Given the description of an element on the screen output the (x, y) to click on. 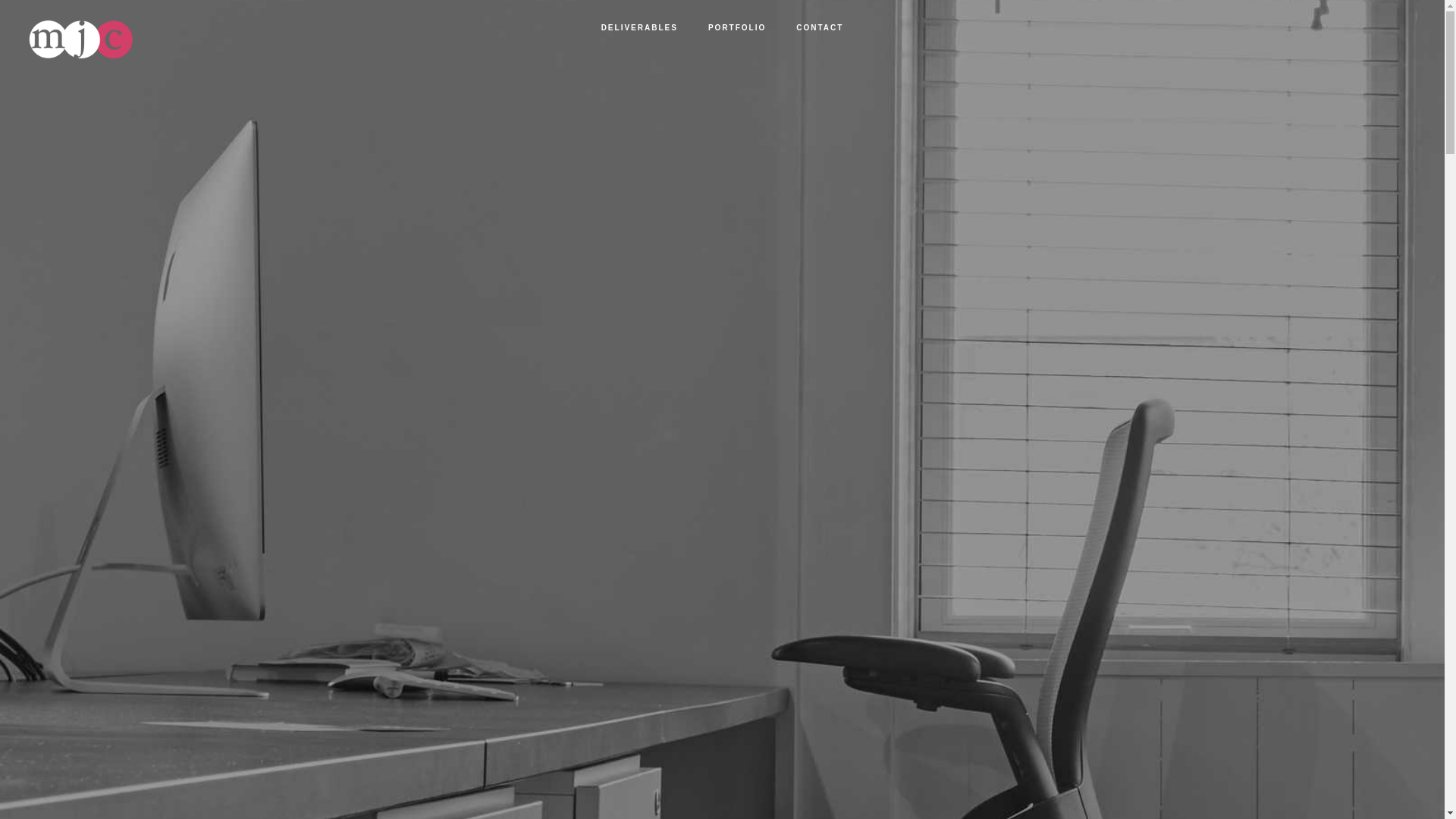
CONTACT (819, 27)
MARK JOHNSON COMMUNICATIONS (162, 39)
DELIVERABLES (639, 27)
PORTFOLIO (736, 27)
